Given the description of an element on the screen output the (x, y) to click on. 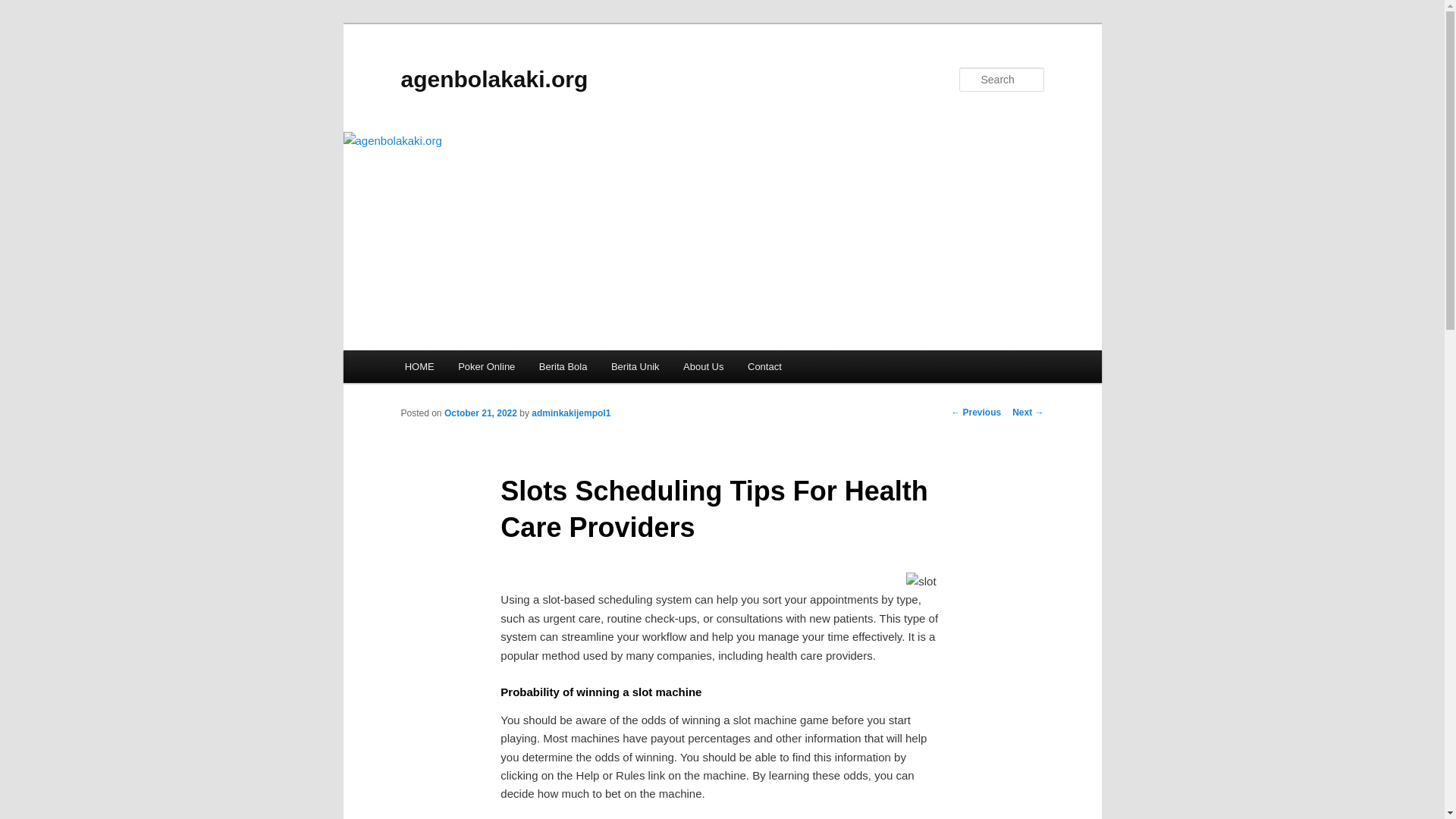
adminkakijempol1 (570, 412)
Berita Bola (562, 366)
HOME (419, 366)
agenbolakaki.org (494, 78)
About Us (703, 366)
October 21, 2022 (480, 412)
Search (24, 8)
View all posts by adminkakijempol1 (570, 412)
Contact (764, 366)
2:53 pm (480, 412)
Berita Unik (634, 366)
Poker Online (486, 366)
